Given the description of an element on the screen output the (x, y) to click on. 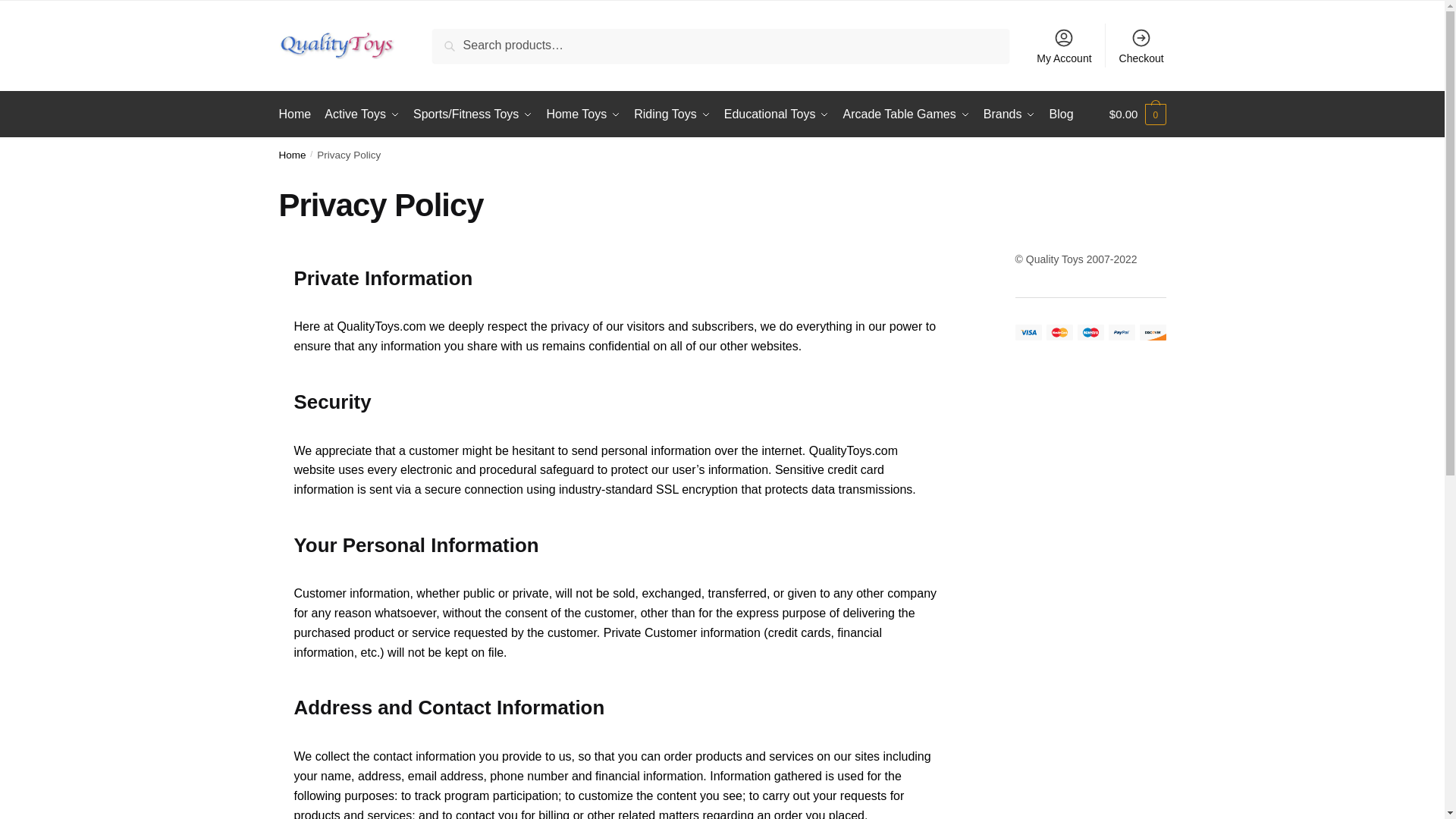
My Account (1063, 45)
Search (451, 38)
Arcade Table Games (905, 114)
Riding Toys (671, 114)
View your shopping cart (1137, 114)
Brands (1009, 114)
Home (298, 114)
Active Toys (361, 114)
Educational Toys (776, 114)
Checkout (1141, 45)
Home Toys (583, 114)
